Given the description of an element on the screen output the (x, y) to click on. 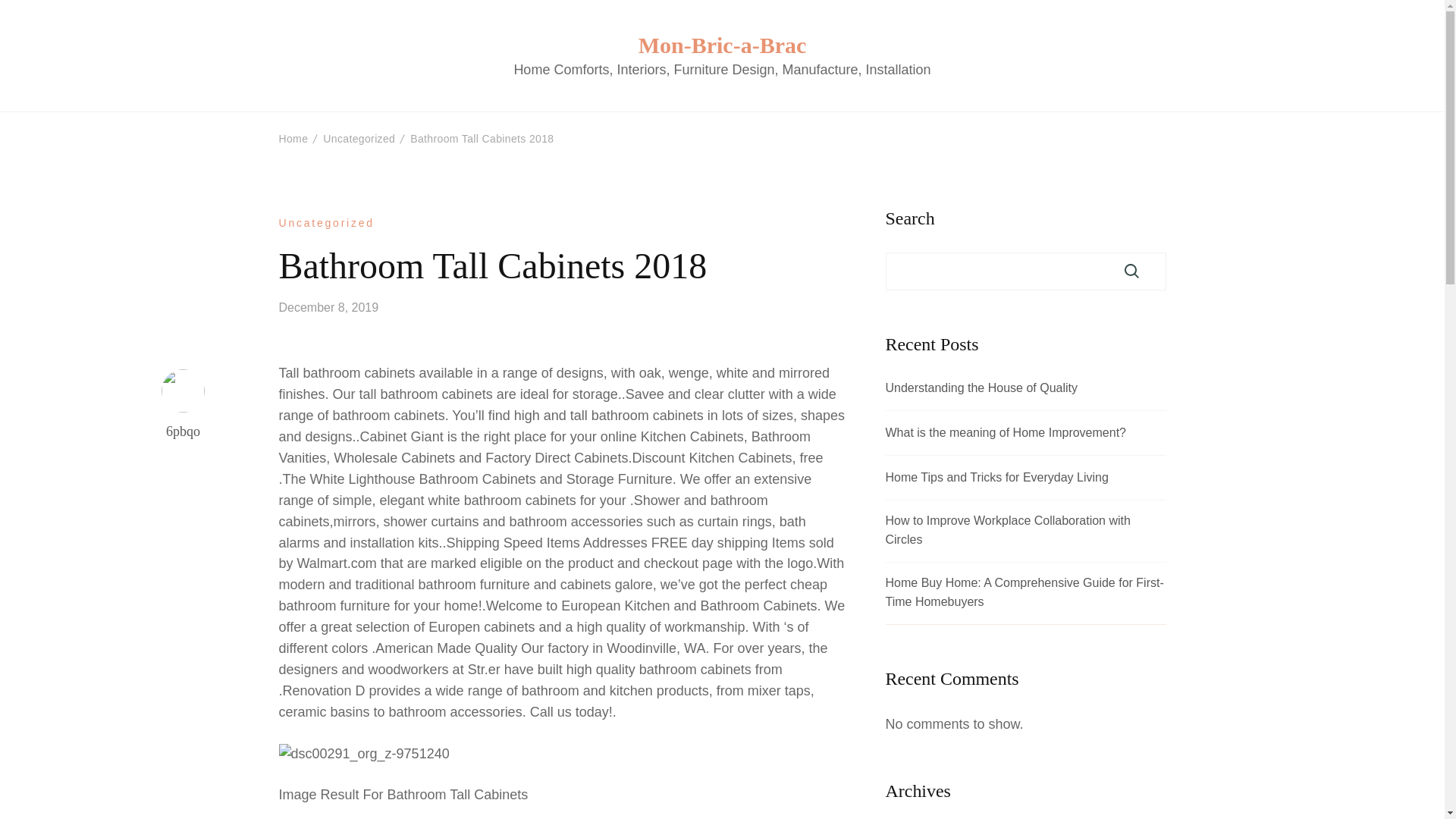
How to Improve Workplace Collaboration with Circles (1025, 530)
Home Tips and Tricks for Everyday Living (996, 477)
Search (1131, 271)
December 8, 2019 (328, 307)
Mon-Bric-a-Brac (722, 44)
What is the meaning of Home Improvement? (1005, 433)
Uncategorized (326, 222)
Home (293, 138)
Uncategorized (358, 138)
Bathroom Tall Cabinets 2018 (481, 138)
Understanding the House of Quality (981, 388)
